Given the description of an element on the screen output the (x, y) to click on. 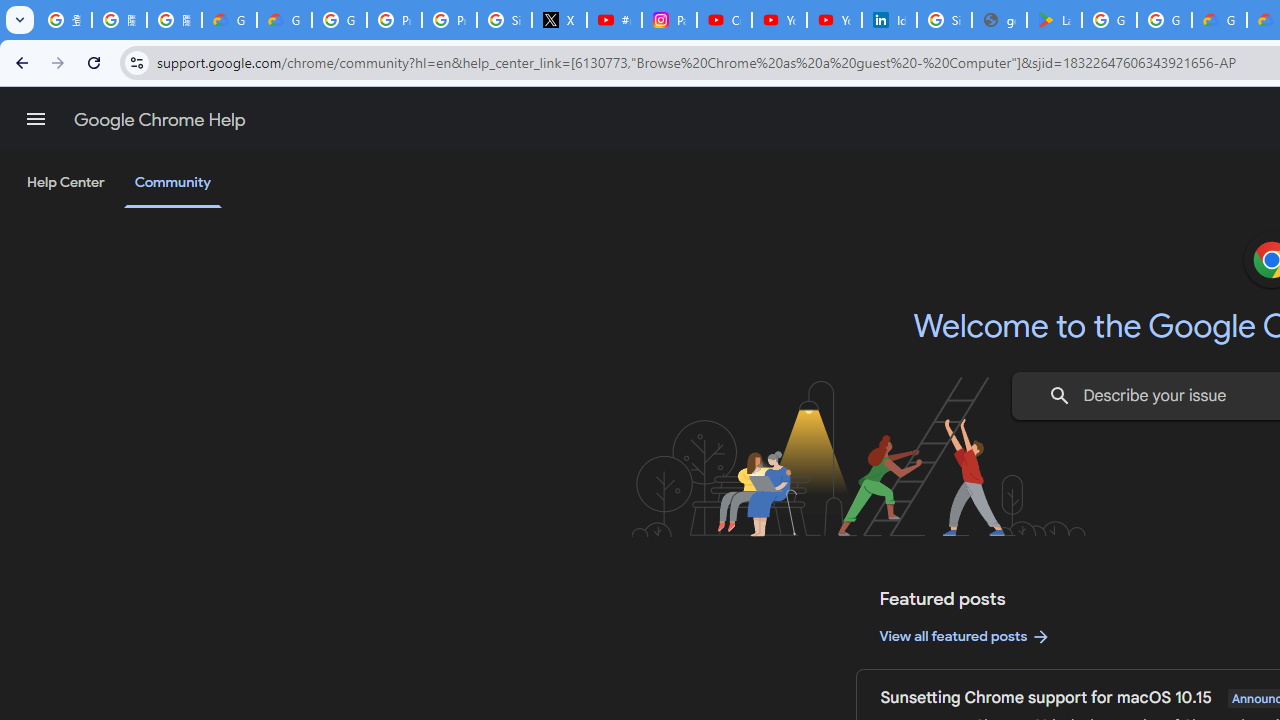
View all featured posts (965, 636)
Google Chrome Help (159, 119)
YouTube Culture & Trends - YouTube Top 10, 2021 (833, 20)
